Given the description of an element on the screen output the (x, y) to click on. 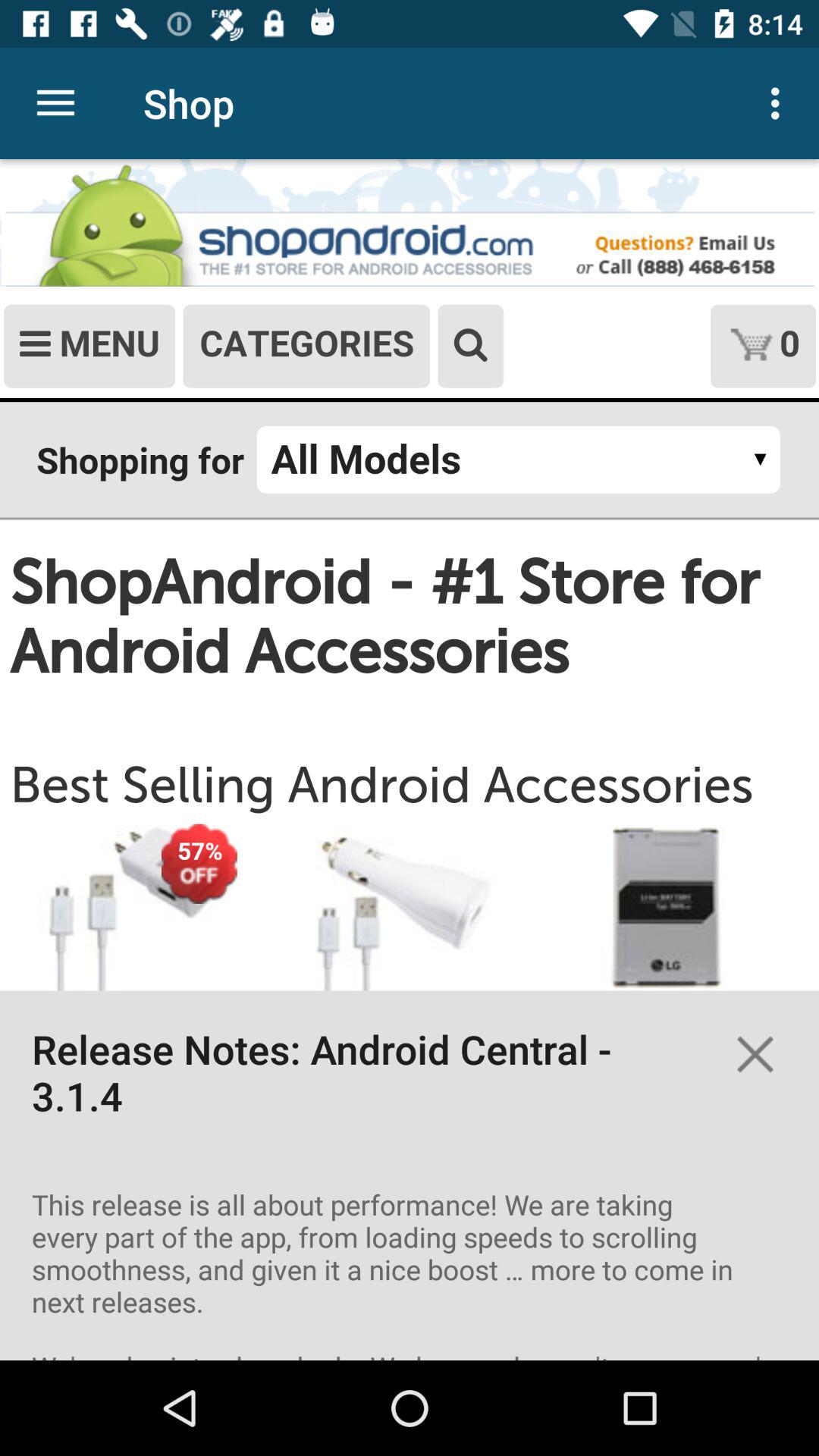
close button (755, 1054)
